Given the description of an element on the screen output the (x, y) to click on. 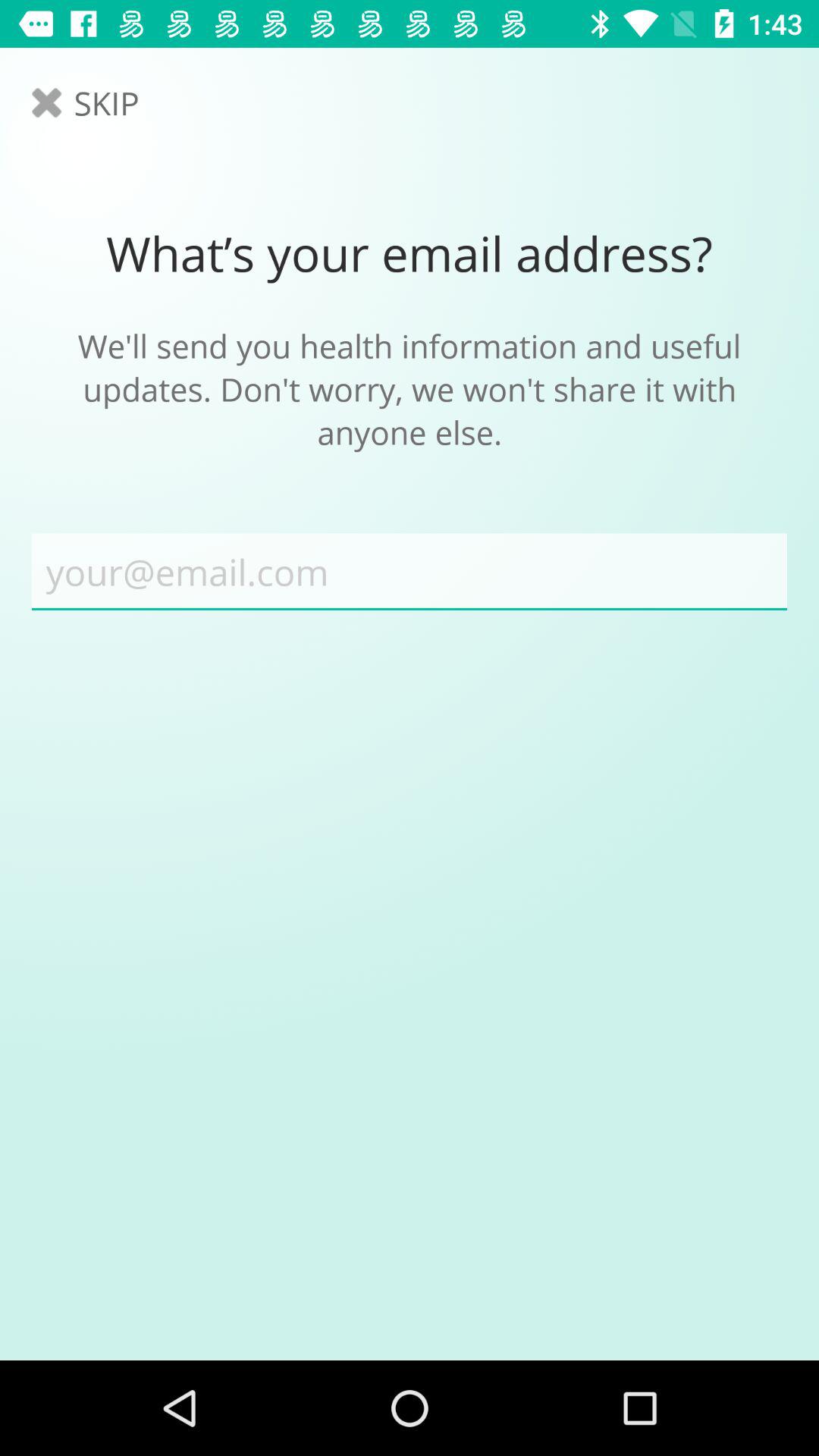
turn on the item below the we ll send item (409, 571)
